Given the description of an element on the screen output the (x, y) to click on. 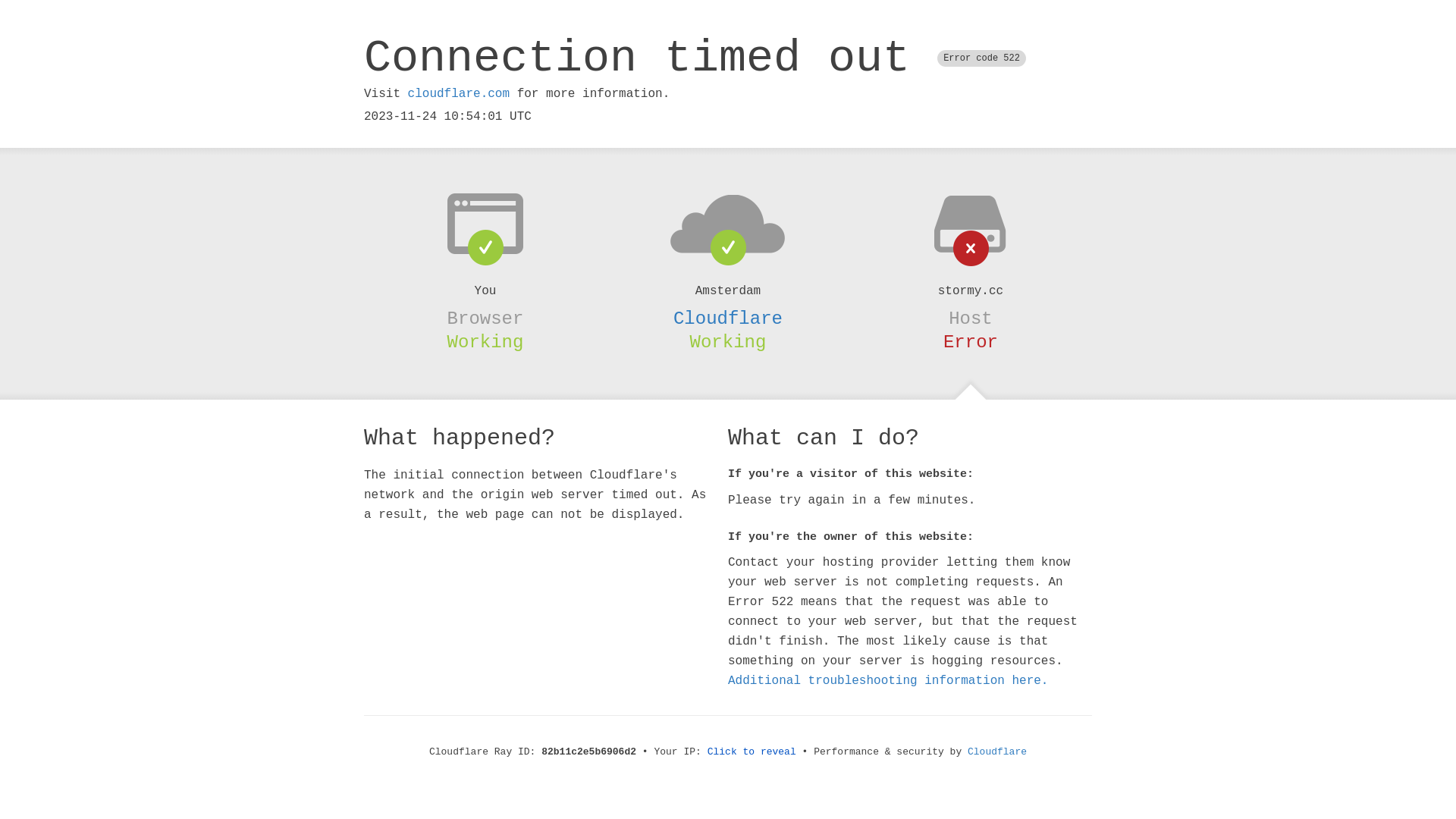
cloudflare.com Element type: text (458, 93)
Cloudflare Element type: text (727, 318)
Cloudflare Element type: text (996, 751)
Additional troubleshooting information here. Element type: text (888, 680)
Click to reveal Element type: text (751, 751)
